Given the description of an element on the screen output the (x, y) to click on. 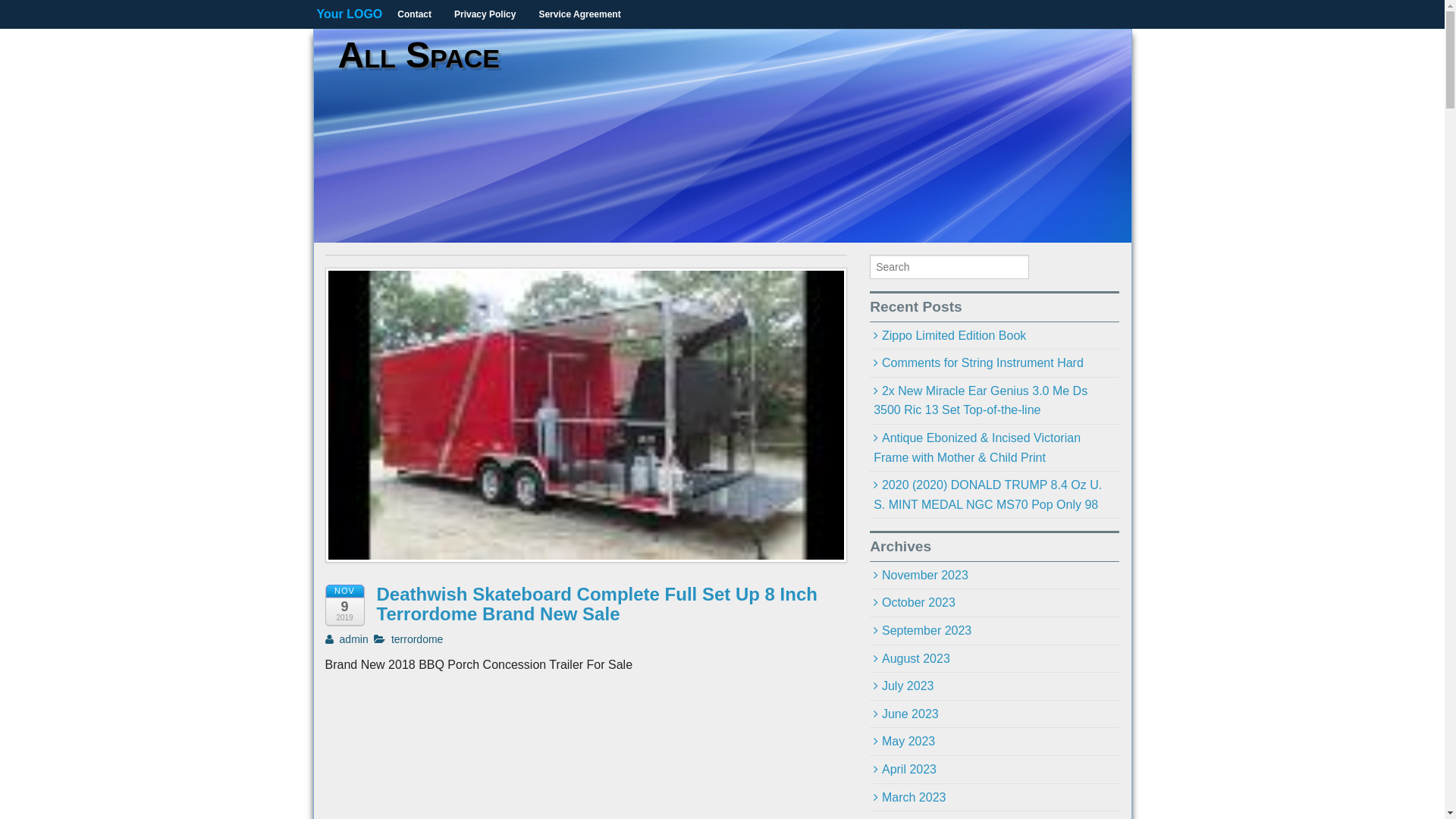
September 2023 Element type: text (994, 631)
terrordome Element type: text (416, 639)
Zippo Limited Edition Book Element type: text (994, 336)
August 2023 Element type: text (994, 659)
All Space Element type: text (419, 54)
June 2023 Element type: text (994, 714)
October 2023 Element type: text (994, 603)
May 2023 Element type: text (994, 742)
Your LOGO Element type: text (348, 14)
Comments for String Instrument Hard Element type: text (994, 363)
April 2023 Element type: text (994, 770)
July 2023 Element type: text (994, 686)
Service Agreement Element type: text (579, 14)
March 2023 Element type: text (994, 798)
Contact Element type: text (413, 14)
admin Element type: text (345, 639)
Search Element type: text (25, 9)
Privacy Policy Element type: text (484, 14)
November 2023 Element type: text (994, 575)
